Given the description of an element on the screen output the (x, y) to click on. 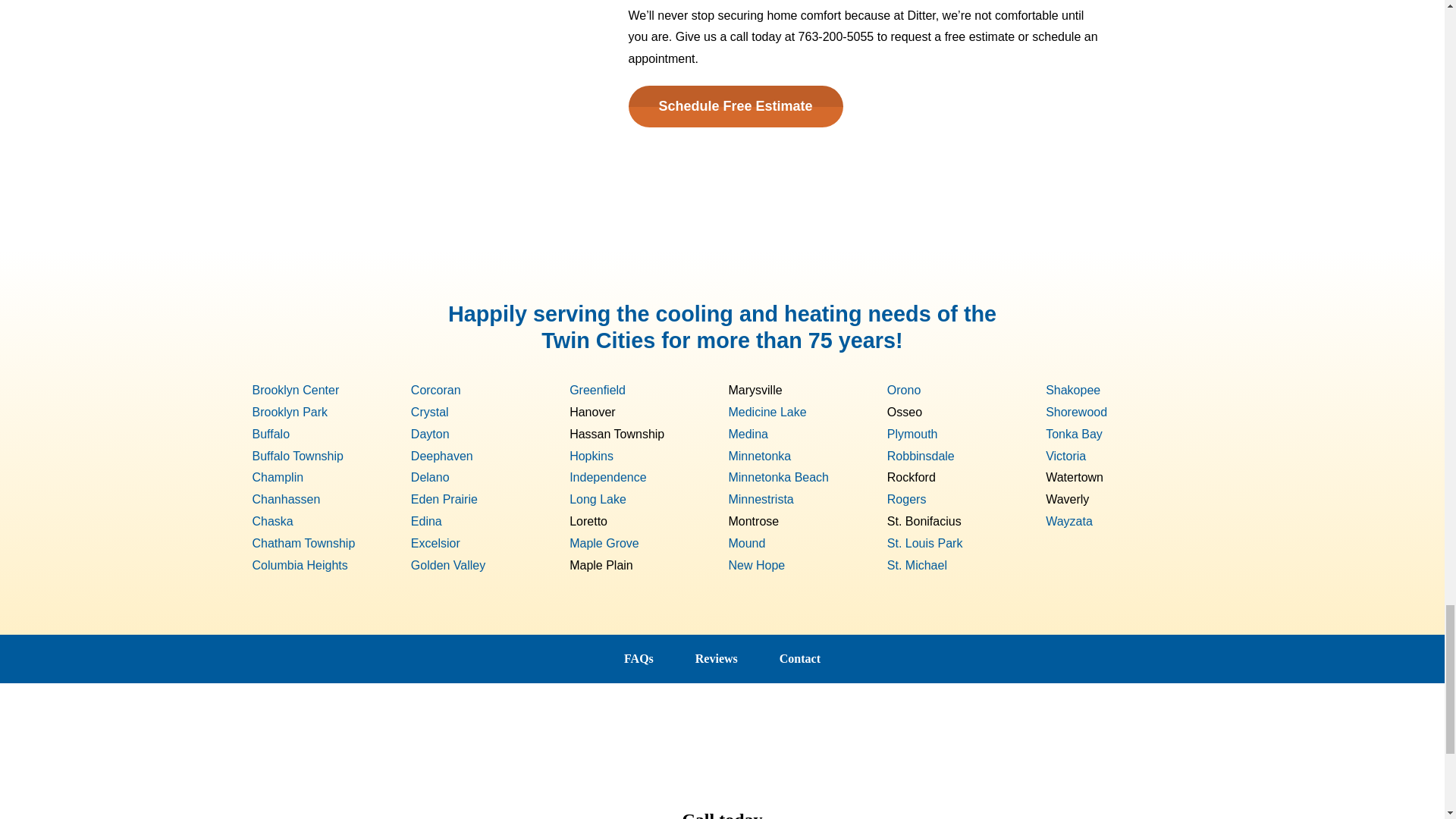
DitterLogo-3C (722, 743)
Path 5832 (1028, 318)
Path 5832 (416, 318)
HVAC maintenance (345, 79)
